Given the description of an element on the screen output the (x, y) to click on. 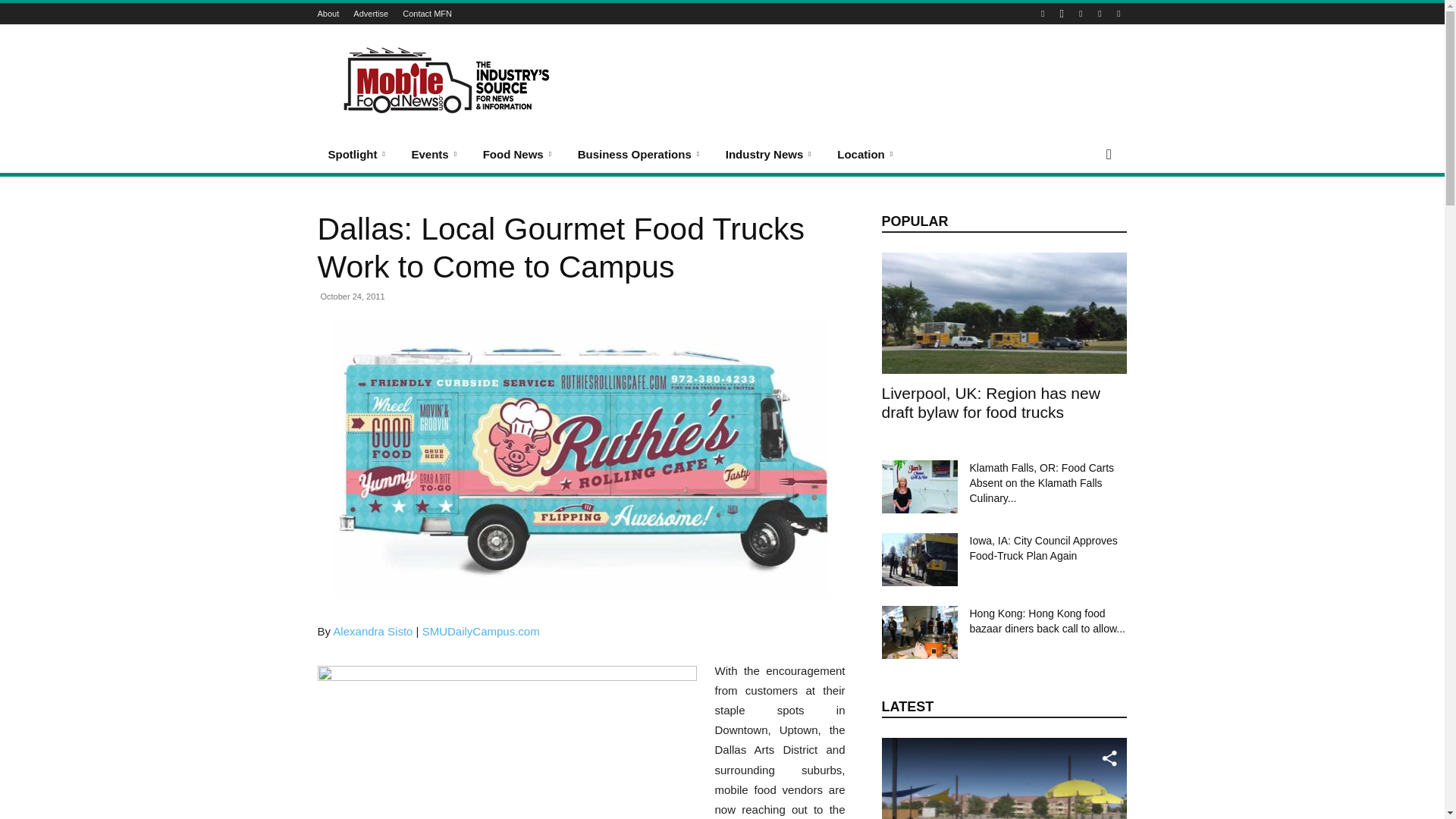
About (328, 13)
Facebook (1042, 13)
Contact MFN (427, 13)
Instagram (1061, 13)
Twitter (1117, 13)
Pinterest (1080, 13)
RSS (1099, 13)
Advertise (370, 13)
